Given the description of an element on the screen output the (x, y) to click on. 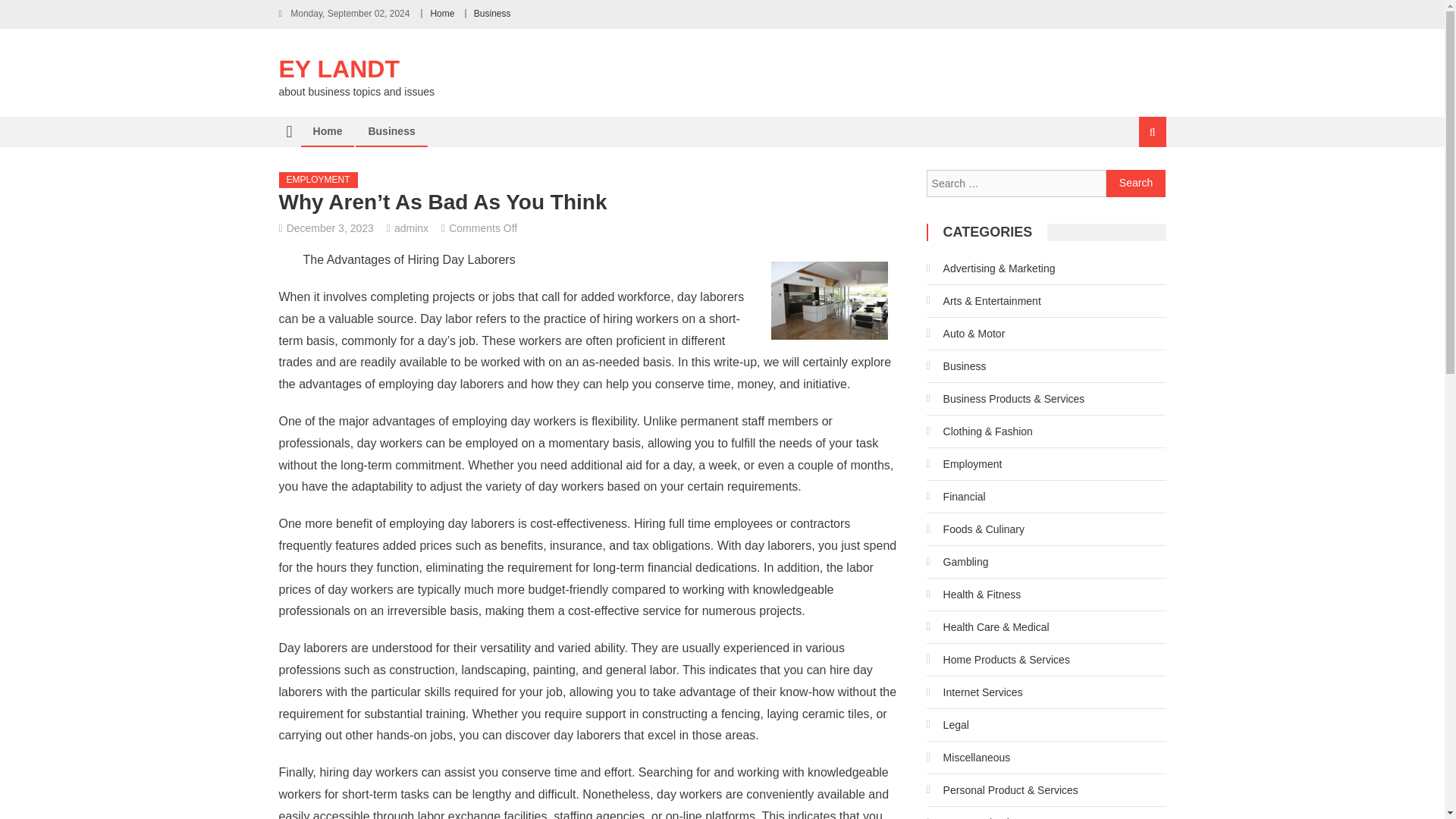
Business (391, 131)
December 3, 2023 (330, 227)
Search (1136, 183)
Search (1136, 183)
Business (492, 13)
Search (1133, 182)
Home (441, 13)
adminx (411, 227)
Search (1136, 183)
EY LANDT (338, 68)
